Given the description of an element on the screen output the (x, y) to click on. 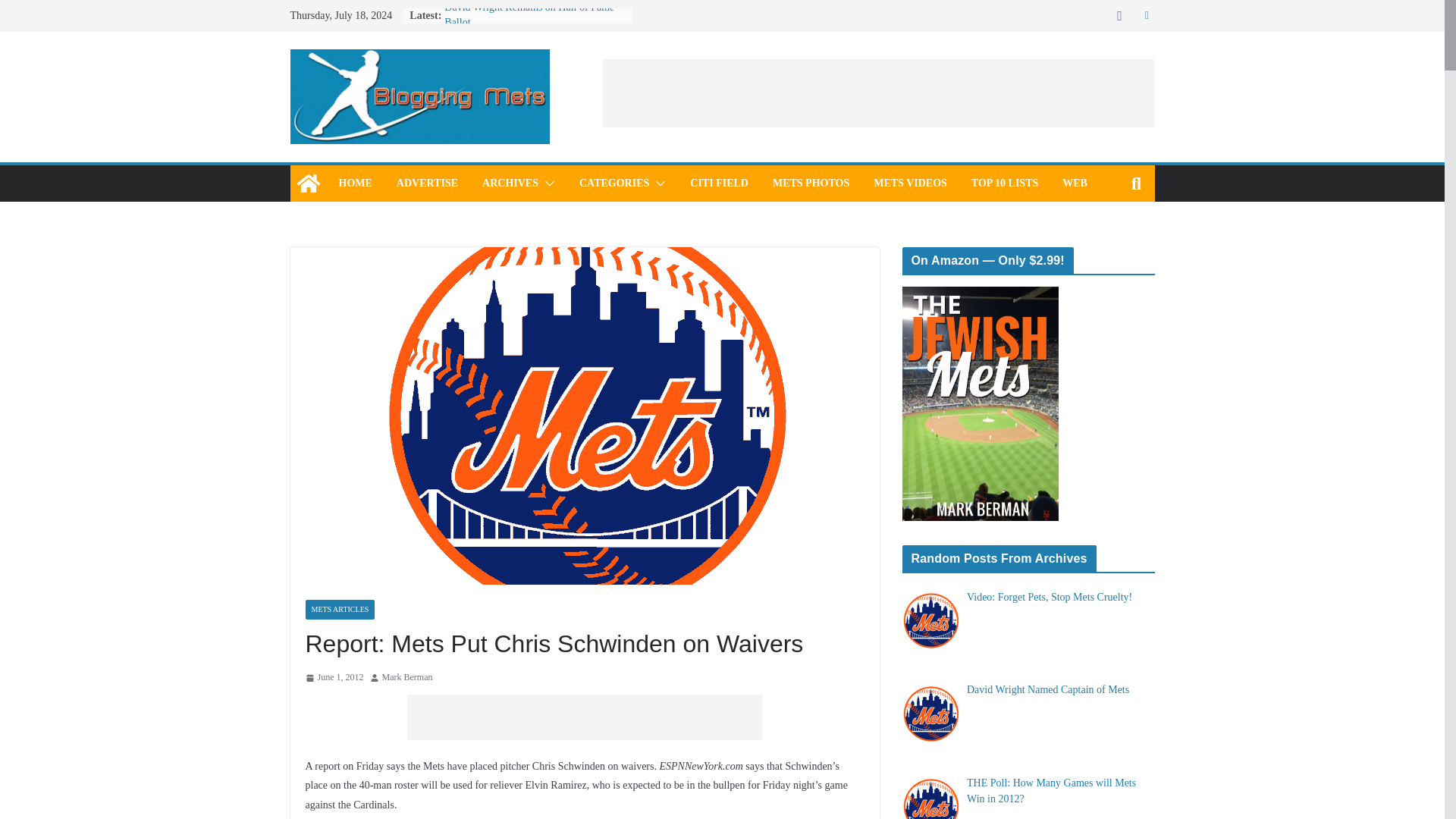
ARCHIVES (509, 183)
Advertisement (584, 717)
ADVERTISE (427, 183)
David Wright Remains on Hall of Fame Ballot (529, 14)
HOME (354, 183)
Mark Berman (406, 677)
Blogging Mets (307, 183)
CATEGORIES (614, 183)
10:22 am (333, 677)
David Wright Remains on Hall of Fame Ballot (529, 14)
Advertisement (878, 92)
